Given the description of an element on the screen output the (x, y) to click on. 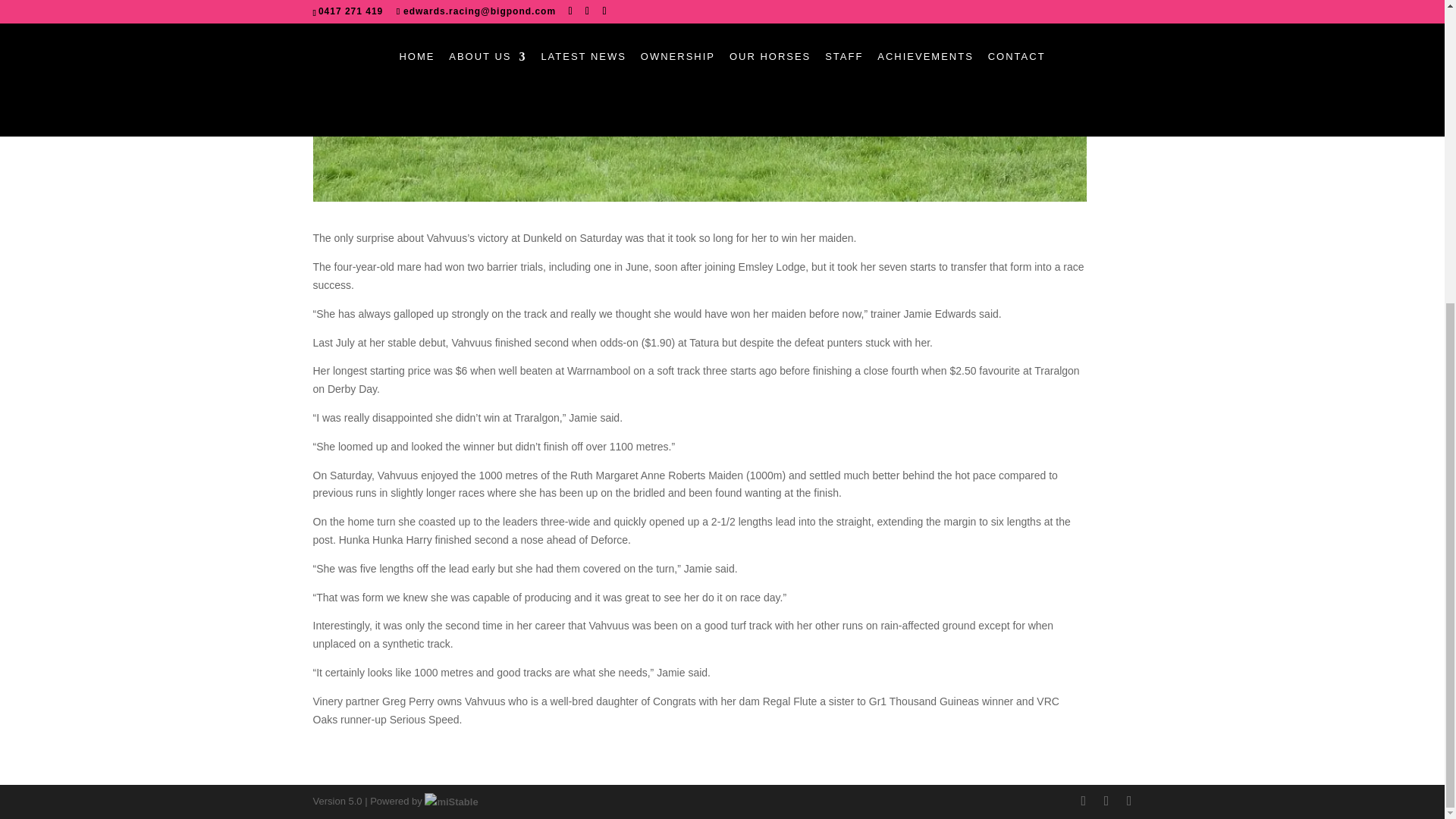
Horse Management Software (451, 800)
